Given the description of an element on the screen output the (x, y) to click on. 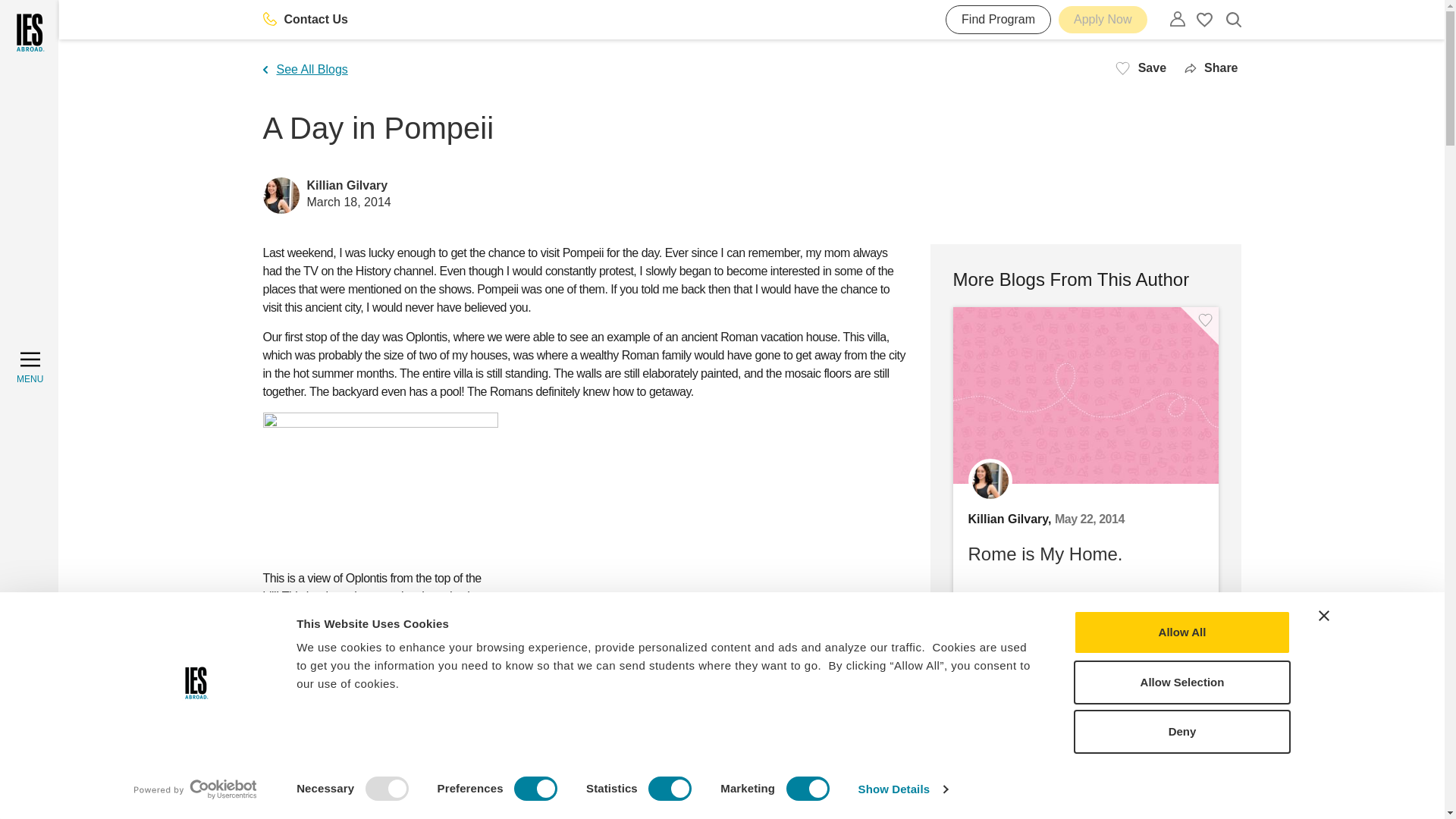
Show Details (902, 789)
